Given the description of an element on the screen output the (x, y) to click on. 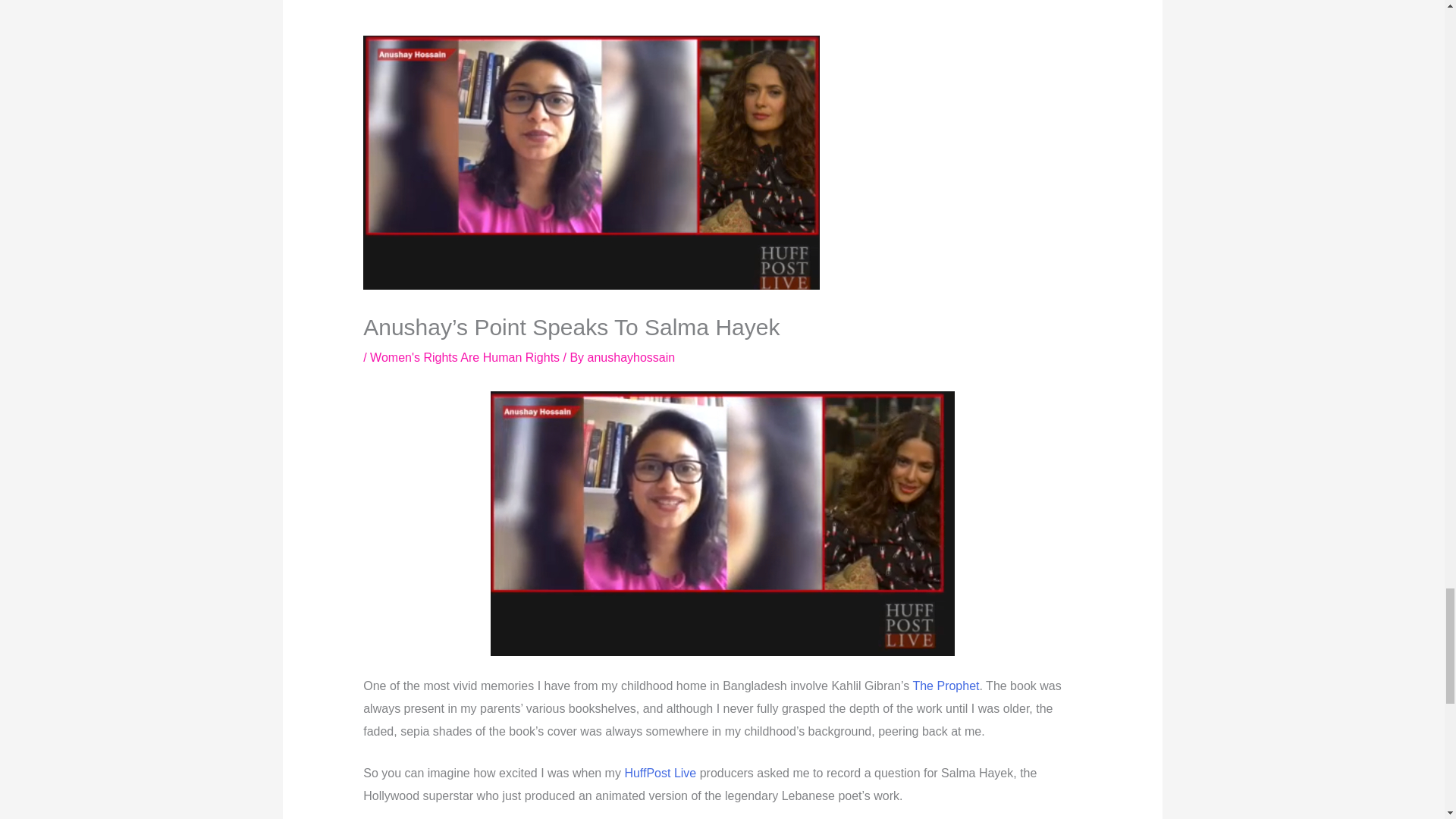
View all posts by anushayhossain (631, 357)
